Given the description of an element on the screen output the (x, y) to click on. 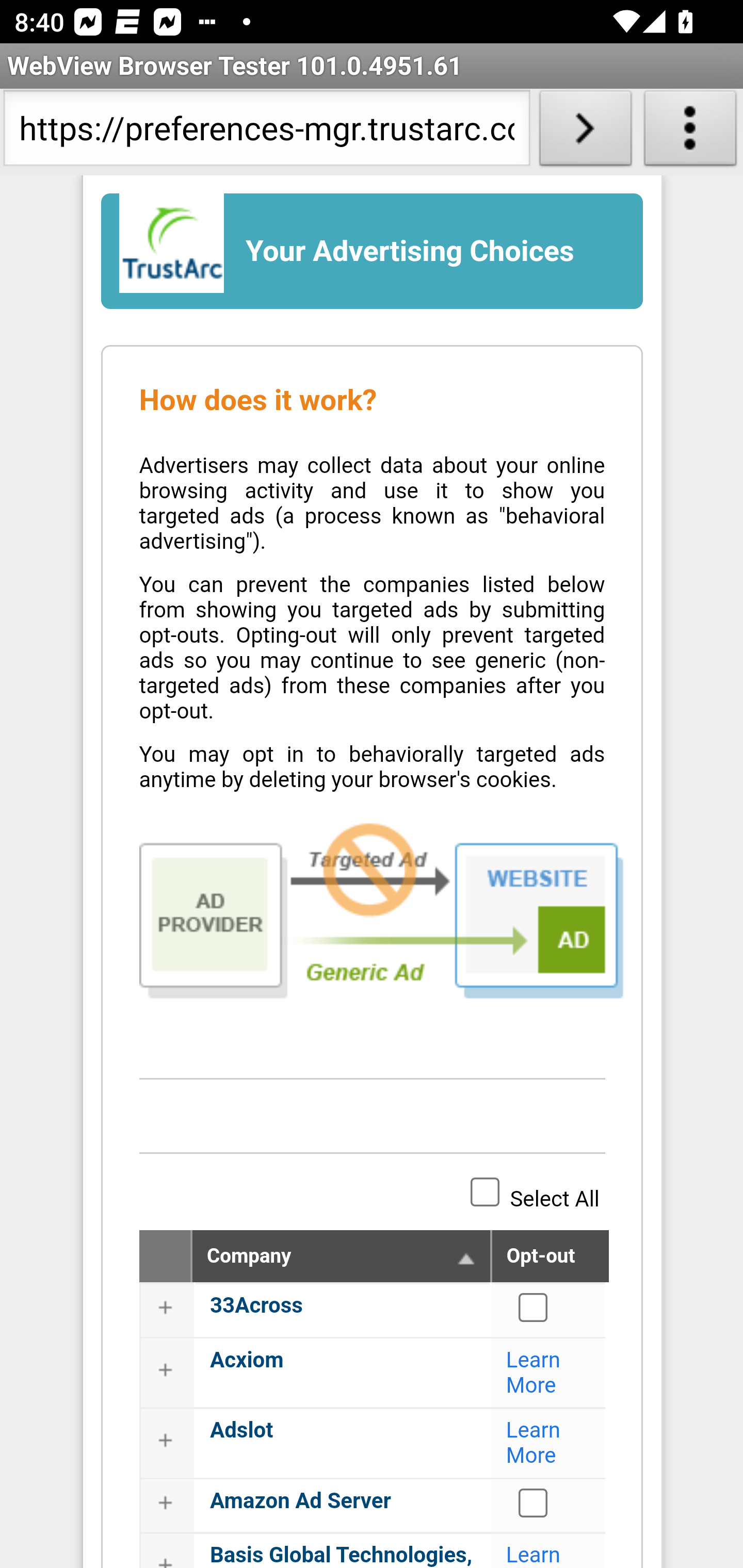
Load URL (585, 132)
About WebView (690, 132)
 Select All  (484, 1191)
Company list, sort alphabetically ascending (466, 1259)
33Across (256, 1306)
33Across (533, 1307)
Acxiom (247, 1359)
Learn More (533, 1372)
Adslot (241, 1430)
Learn More (533, 1443)
Amazon Ad Server (300, 1501)
Amazon Ad Server (533, 1502)
Basis Global Technologies, Inc. (341, 1554)
Learn More (533, 1554)
